Given the description of an element on the screen output the (x, y) to click on. 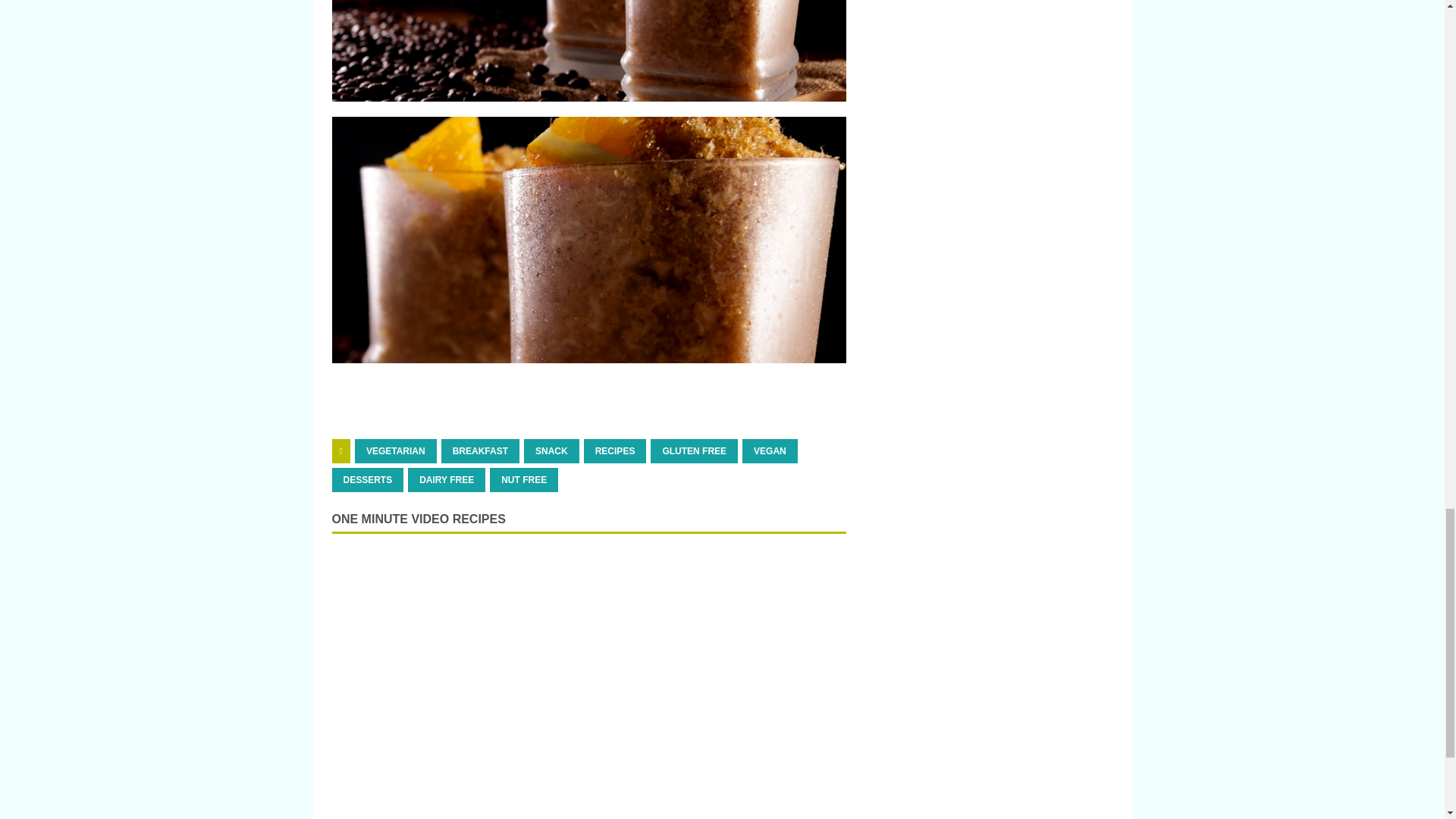
NUT FREE (523, 479)
RECIPES (614, 450)
BREAKFAST (480, 450)
DESSERTS (367, 479)
VEGAN (769, 450)
GLUTEN FREE (694, 450)
VEGETARIAN (395, 450)
SNACK (551, 450)
DAIRY FREE (445, 479)
